Given the description of an element on the screen output the (x, y) to click on. 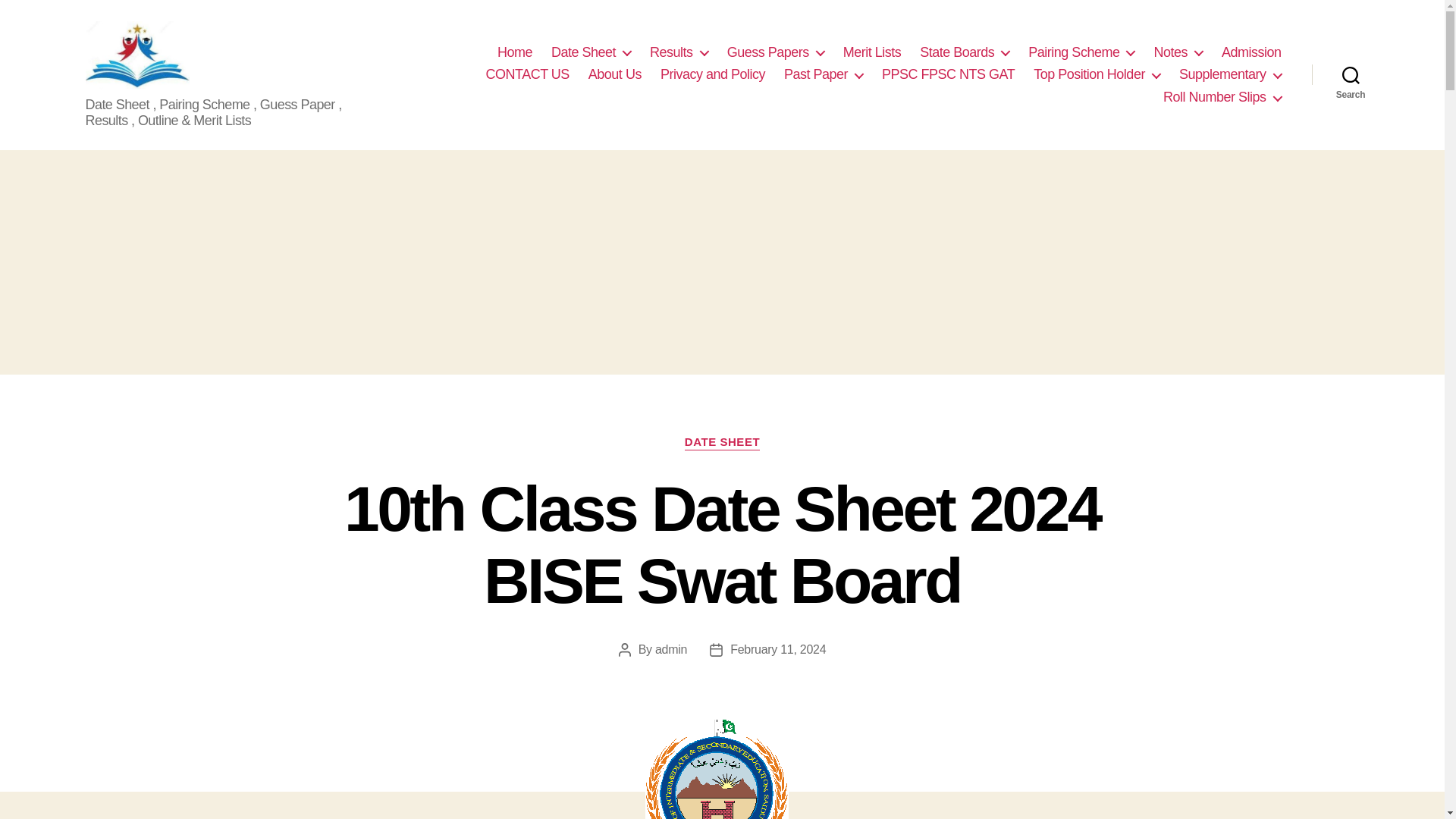
Pairing Scheme (1080, 53)
Home (514, 53)
Date Sheet (590, 53)
Guess Papers (775, 53)
Merit Lists (872, 53)
Results (678, 53)
State Boards (964, 53)
